Given the description of an element on the screen output the (x, y) to click on. 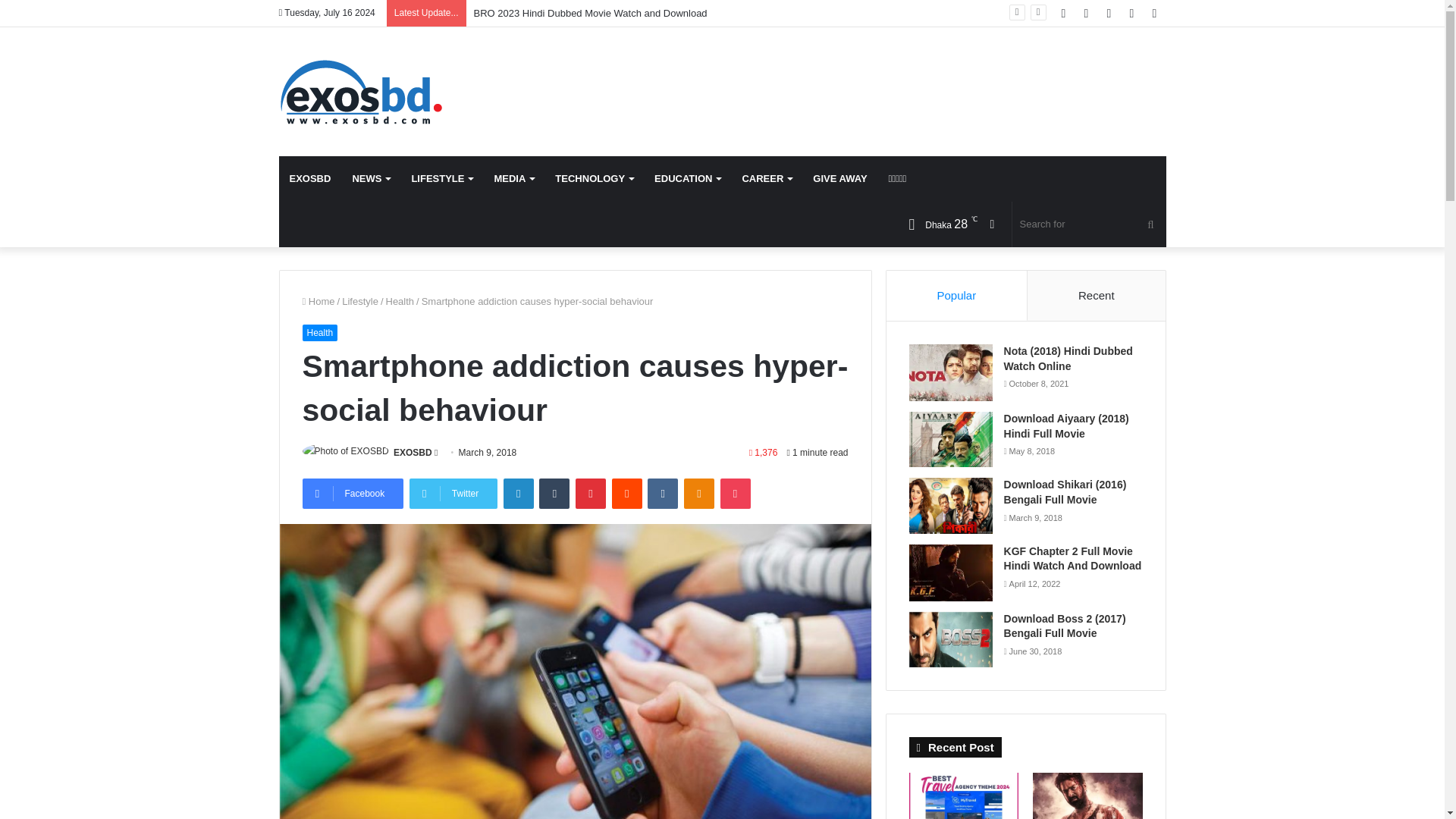
YouTube (1109, 13)
Send an email (435, 452)
Tumblr (553, 493)
TECHNOLOGY (593, 178)
Search for (1088, 224)
Pinterest (590, 493)
EXOSBD (412, 452)
Pocket (735, 493)
Mist (937, 224)
BRO 2023 Hindi Dubbed Movie Watch and Download  (592, 12)
Twitter (453, 493)
Sidebar (1154, 13)
Facebook (352, 493)
NEWS (370, 178)
Switch skin (992, 224)
